Given the description of an element on the screen output the (x, y) to click on. 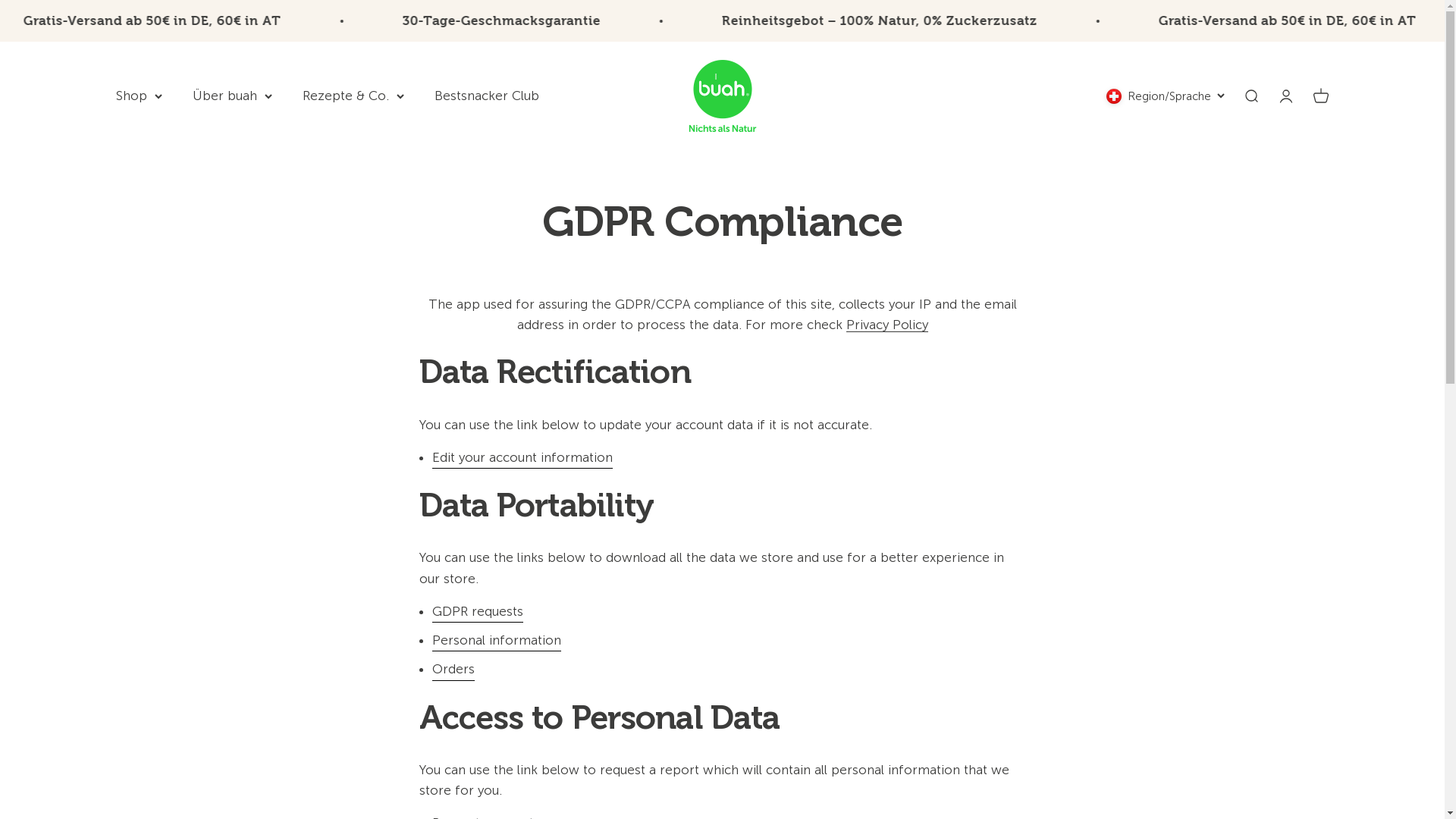
buah ch Element type: text (722, 95)
Region/Sprache Element type: text (1164, 96)
Privacy Policy Element type: text (887, 324)
Orders Element type: text (453, 669)
Personal information Element type: text (496, 640)
GDPR requests Element type: text (477, 611)
Edit your account information Element type: text (522, 457)
Bestsnacker Club Element type: text (485, 95)
